Given the description of an element on the screen output the (x, y) to click on. 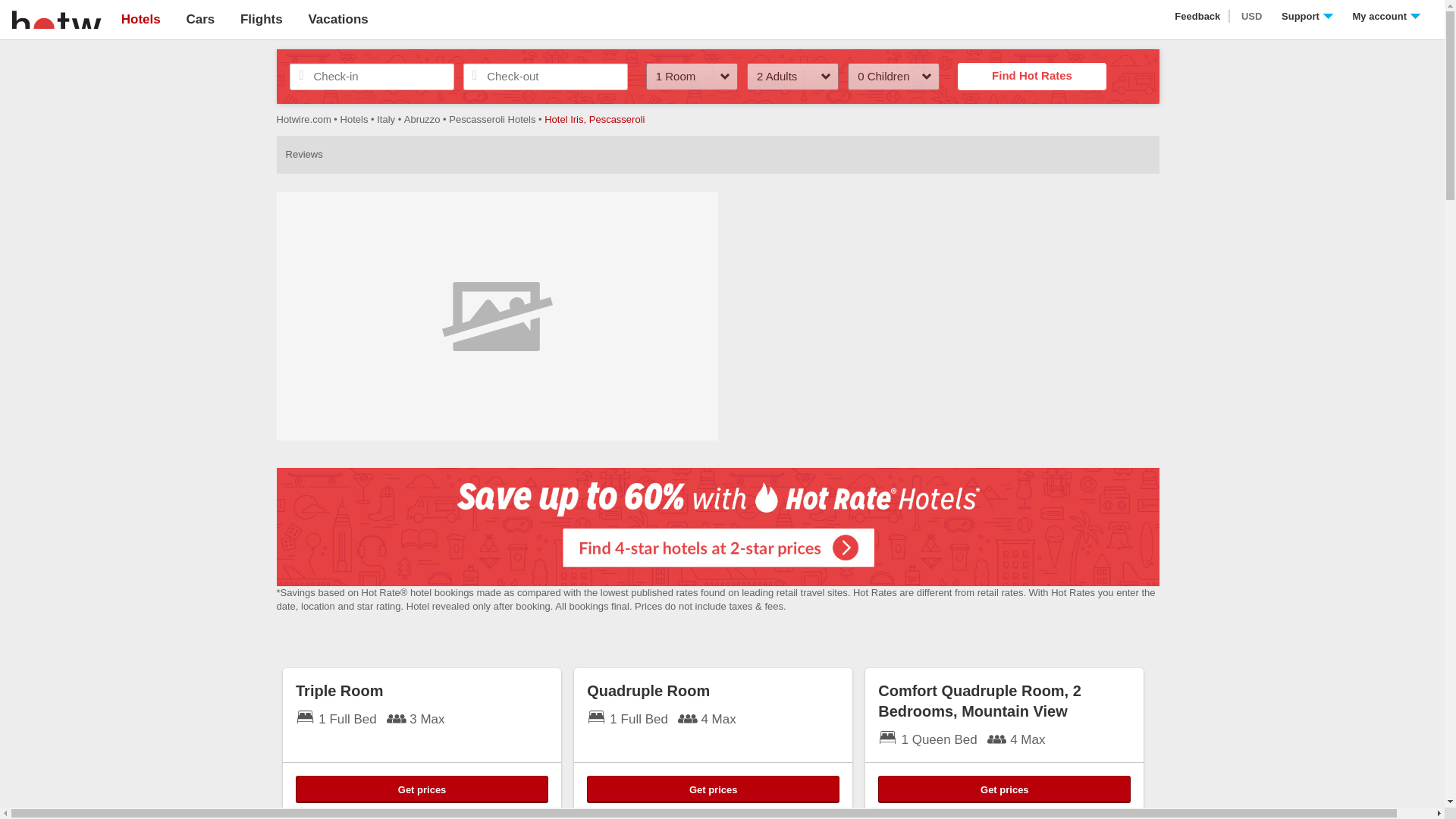
Cars (200, 19)
My account (1386, 16)
Flights (261, 19)
Support (1307, 16)
Hotels (140, 19)
Feedback (1198, 16)
Vacations (337, 19)
Hotwire (56, 18)
